Given the description of an element on the screen output the (x, y) to click on. 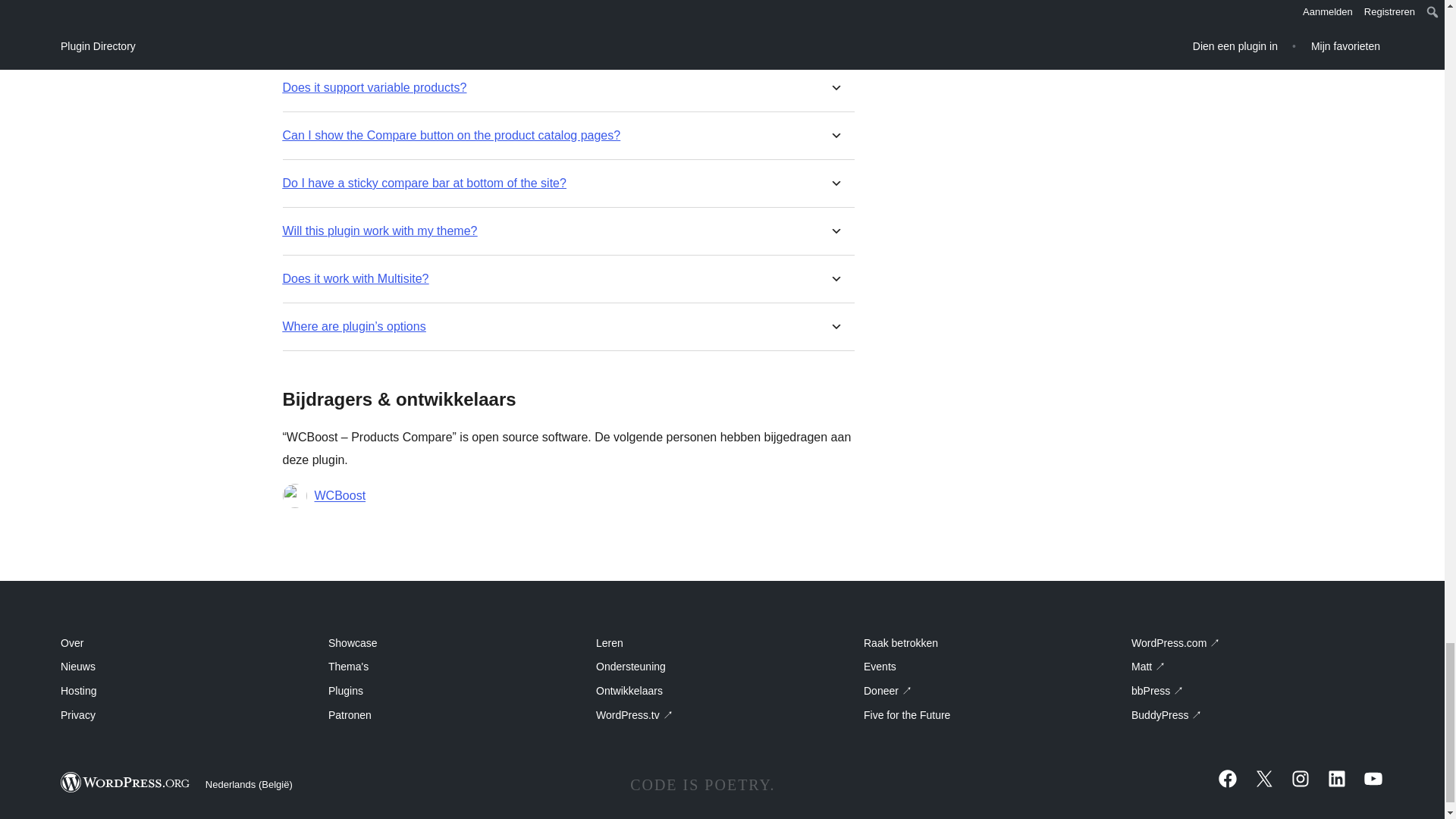
WordPress.org (125, 782)
